Given the description of an element on the screen output the (x, y) to click on. 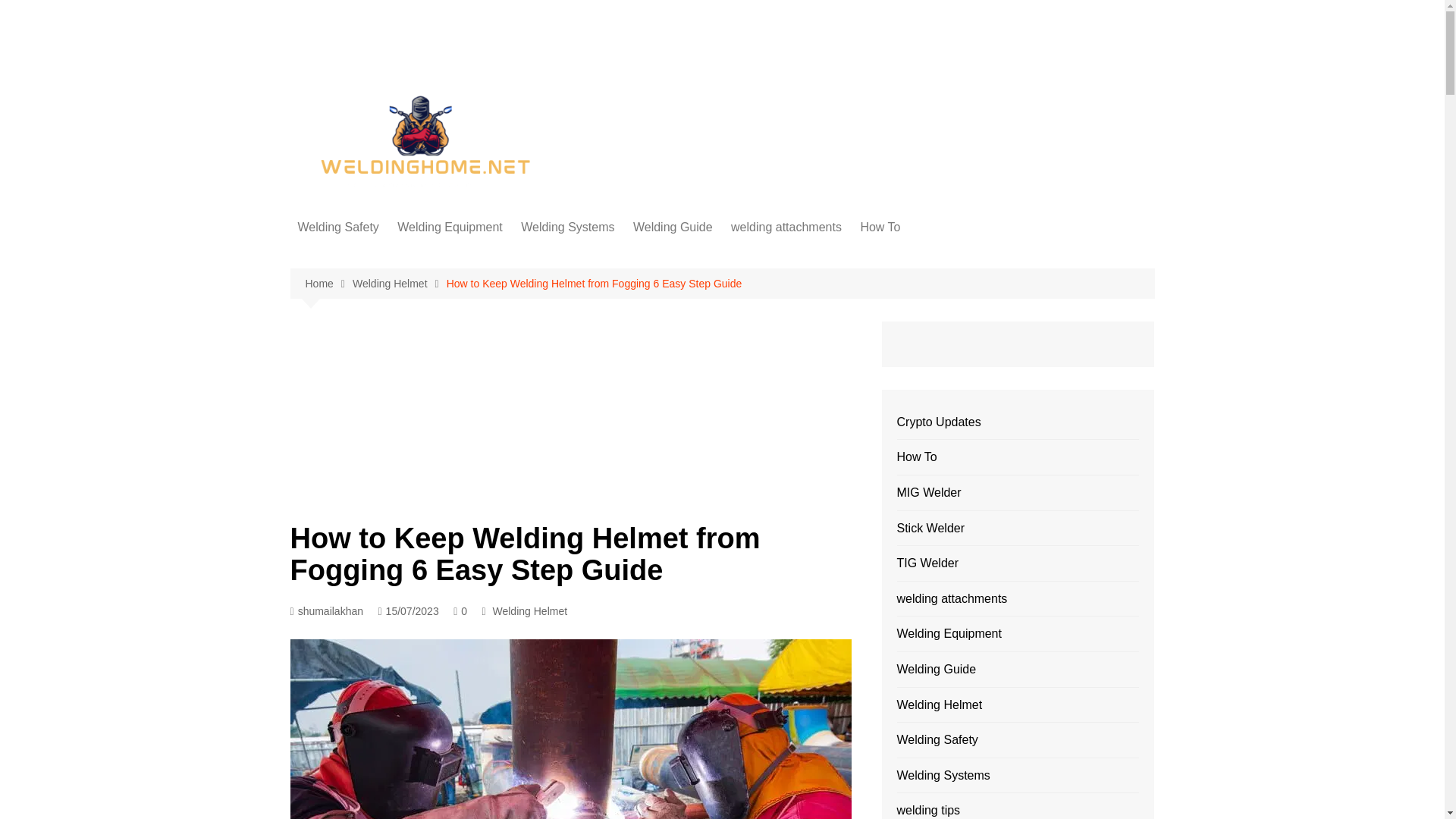
Home (328, 283)
Welding Helmet (373, 258)
Welding Equipment (449, 227)
MIG Welder (596, 283)
How to Keep Welding Helmet from Fogging 6 Easy Step Guide 1 (569, 729)
Welding Systems (567, 227)
Welding Helmet (399, 283)
Welding Helmet (530, 610)
welding attachments (785, 227)
Welding Safety (337, 227)
